Given the description of an element on the screen output the (x, y) to click on. 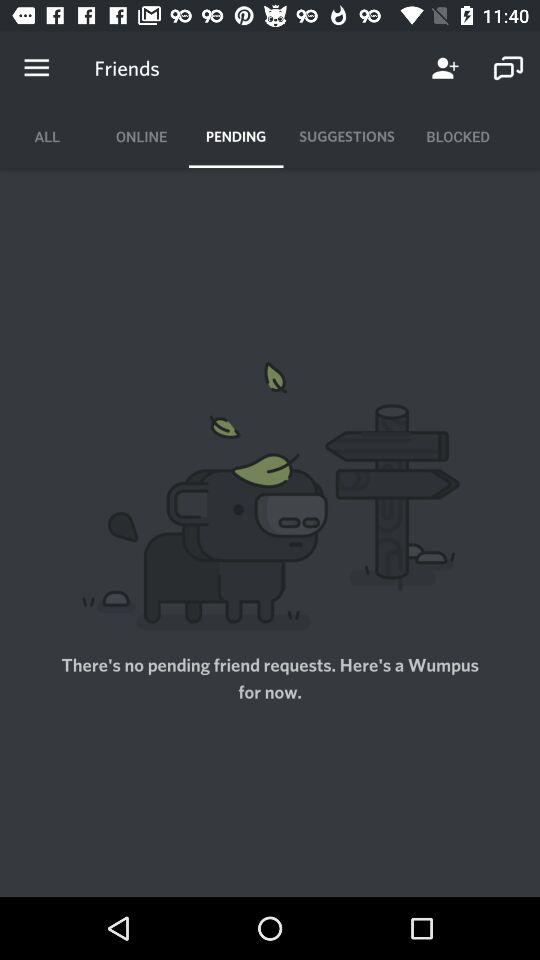
launch icon to the right of the friends item (444, 67)
